Given the description of an element on the screen output the (x, y) to click on. 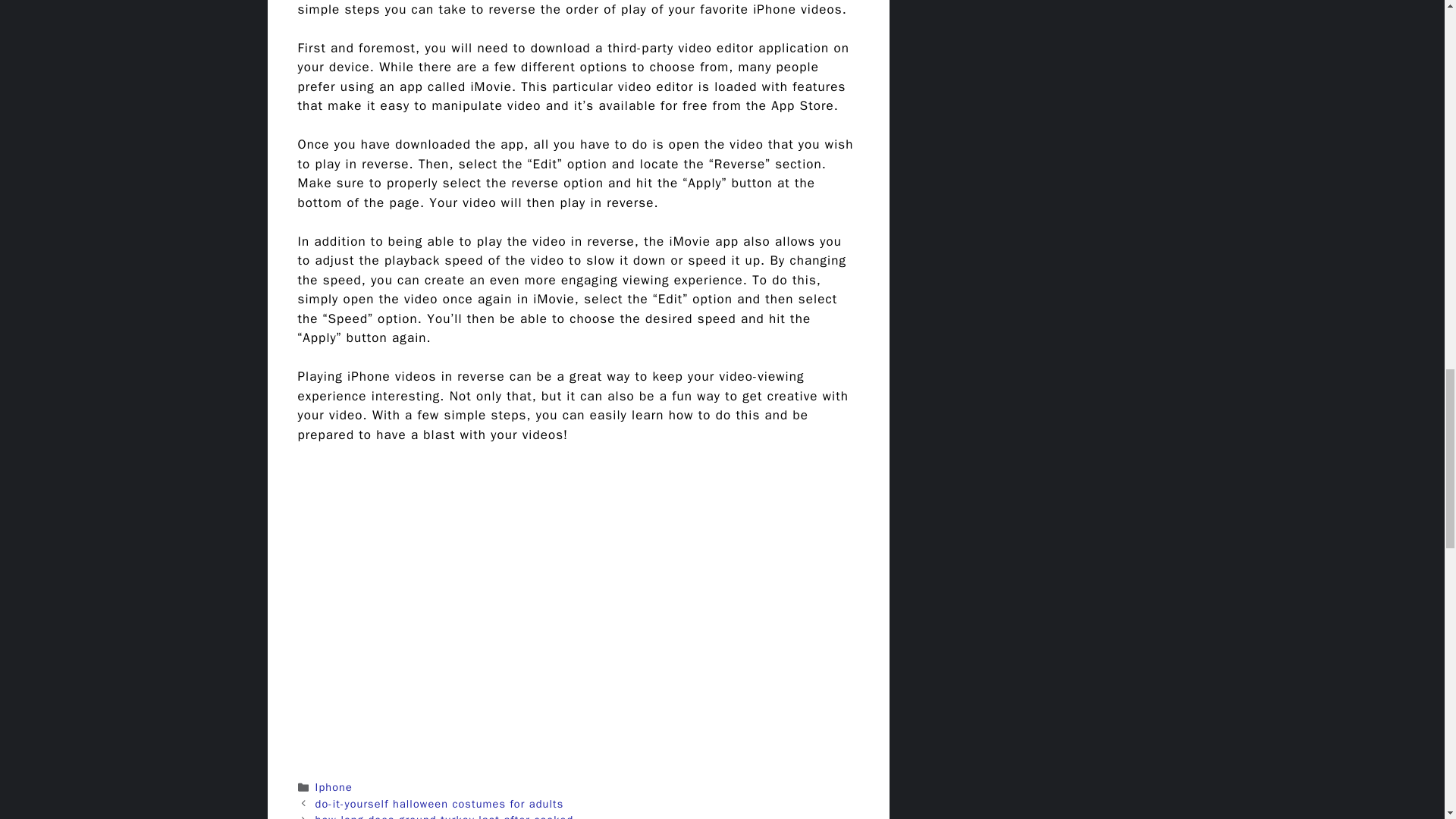
do-it-yourself halloween costumes for adults (439, 803)
how long does ground turkey last after cooked (444, 816)
Iphone (333, 786)
